Given the description of an element on the screen output the (x, y) to click on. 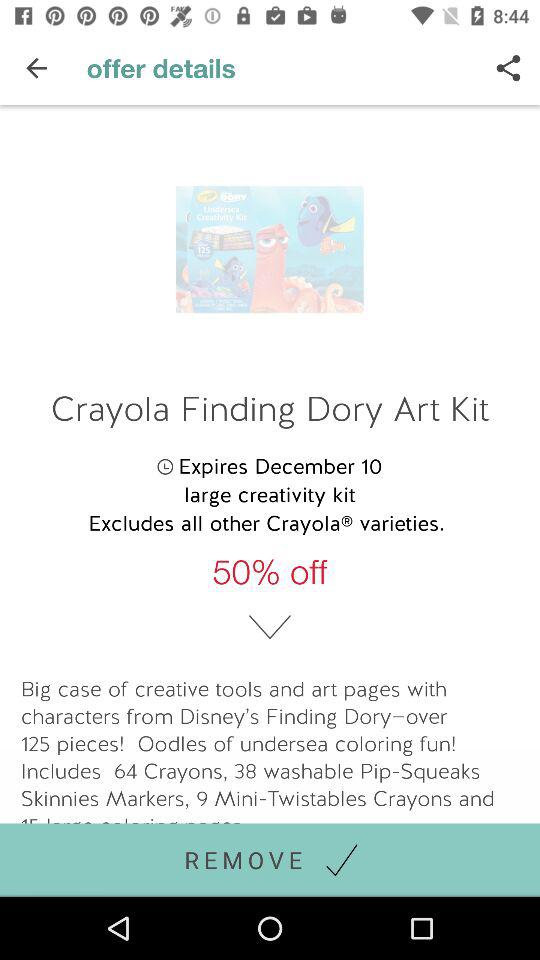
select icon to the left of offer details item (36, 67)
